Given the description of an element on the screen output the (x, y) to click on. 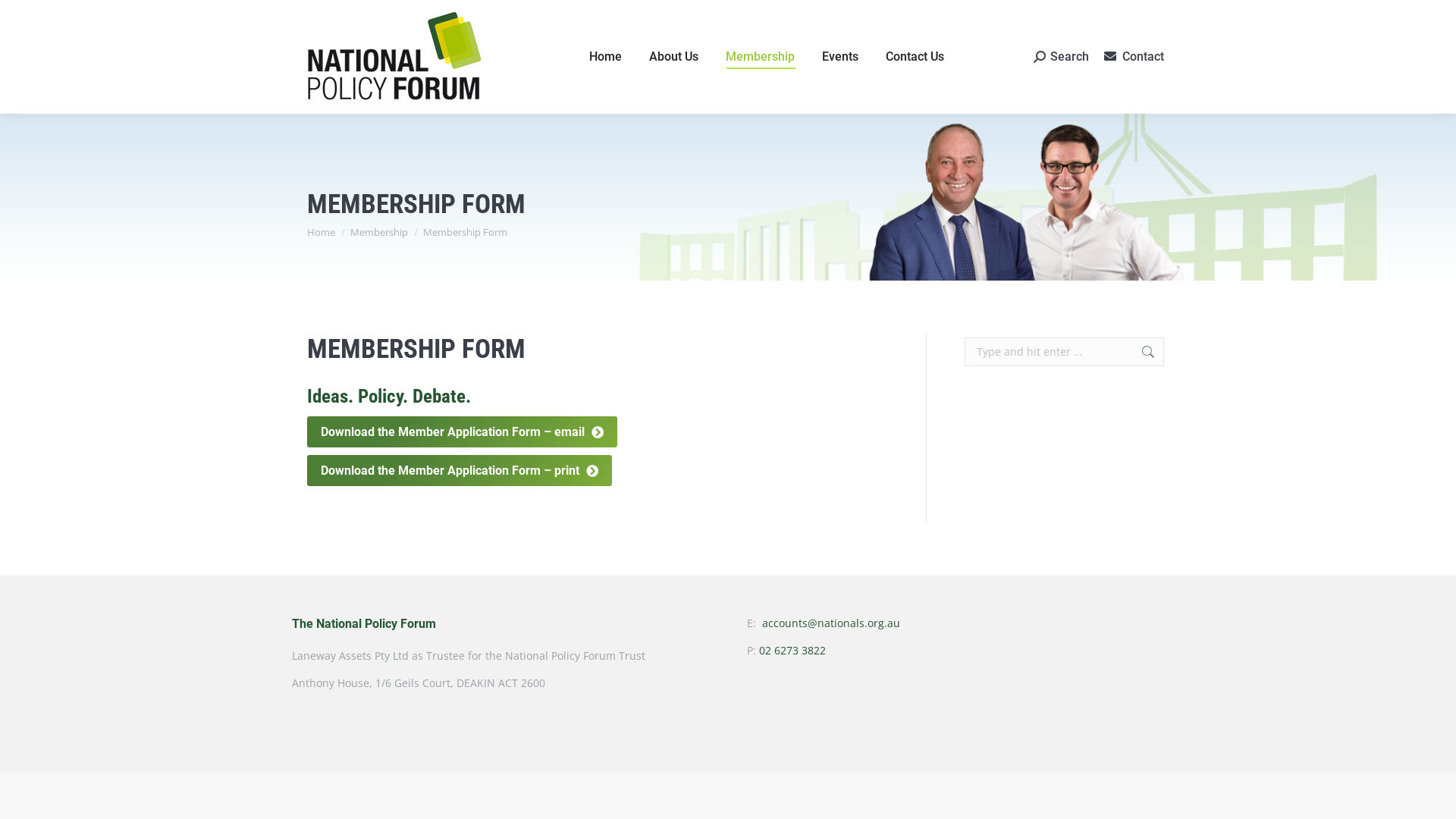
Home Element type: text (321, 231)
accounts@nationals.org.au Element type: text (831, 622)
Contact Us Element type: text (914, 56)
02 6273 3822 Element type: text (792, 650)
About Us Element type: text (673, 56)
Membership Element type: text (378, 231)
Home Element type: text (605, 56)
Contact Element type: text (1143, 56)
Go! Element type: text (24, 17)
Go! Element type: text (1140, 351)
Membership Element type: text (759, 56)
Search Element type: text (1060, 56)
Events Element type: text (840, 56)
